Given the description of an element on the screen output the (x, y) to click on. 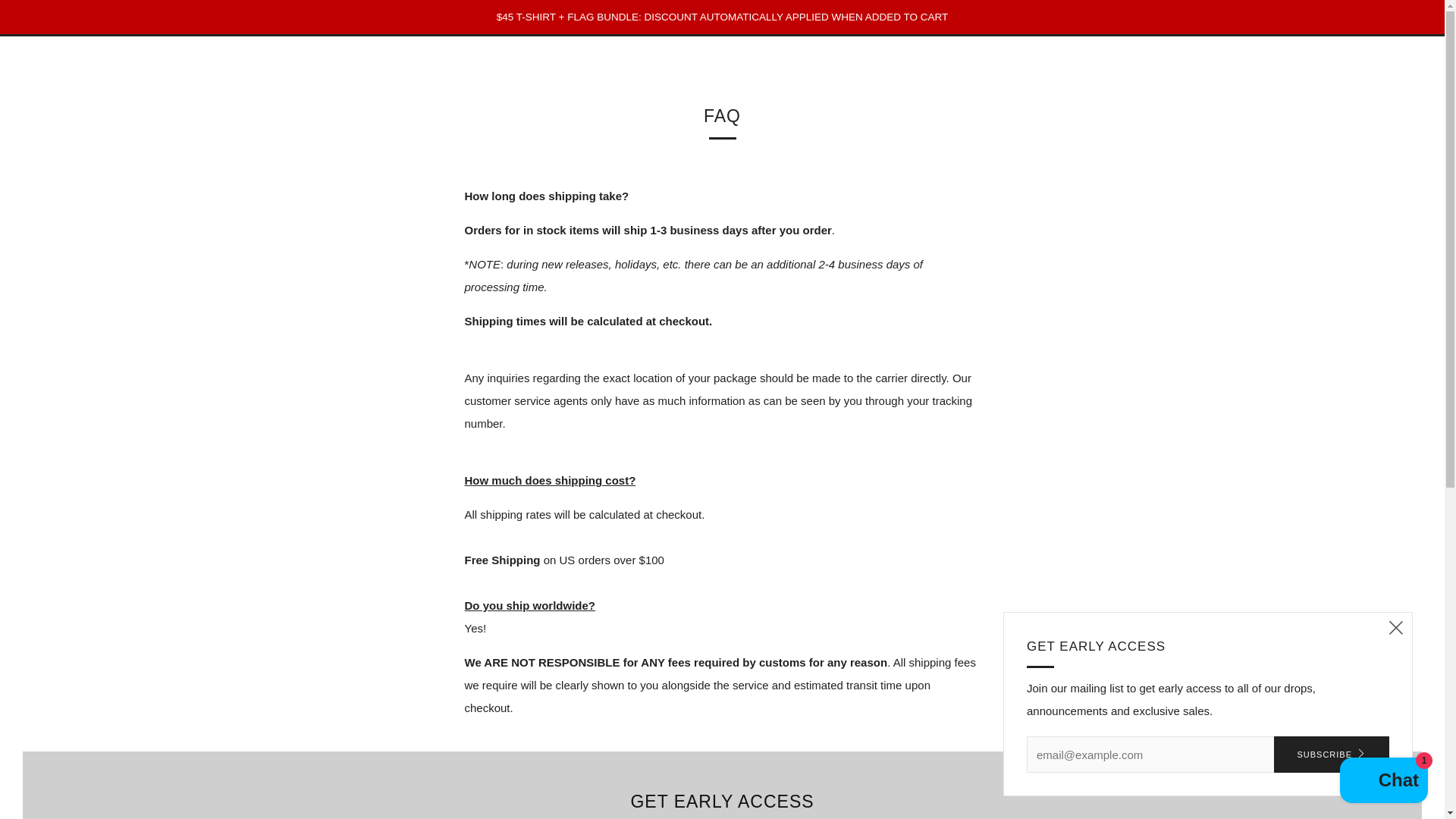
Shopify online store chat (1383, 781)
SHOP ALL (392, 57)
BOTTOMS (188, 57)
ITALIA (86, 57)
SEARCH (1414, 55)
HATS (242, 57)
TOPS (132, 57)
SALE (335, 57)
LOG IN (1313, 57)
FLAGS (290, 57)
HOME (39, 57)
